Given the description of an element on the screen output the (x, y) to click on. 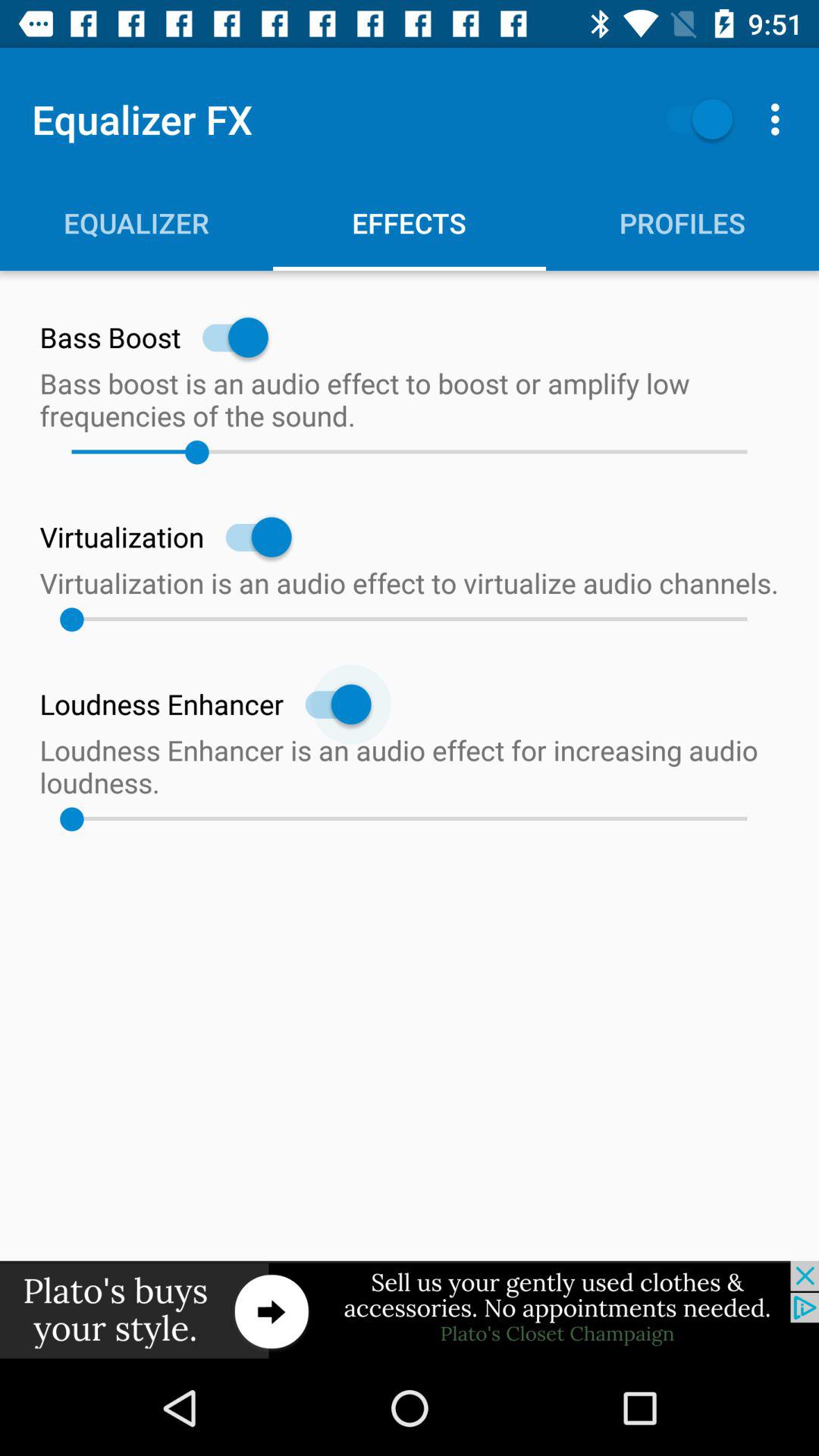
switch equalizer fx option (691, 119)
